Given the description of an element on the screen output the (x, y) to click on. 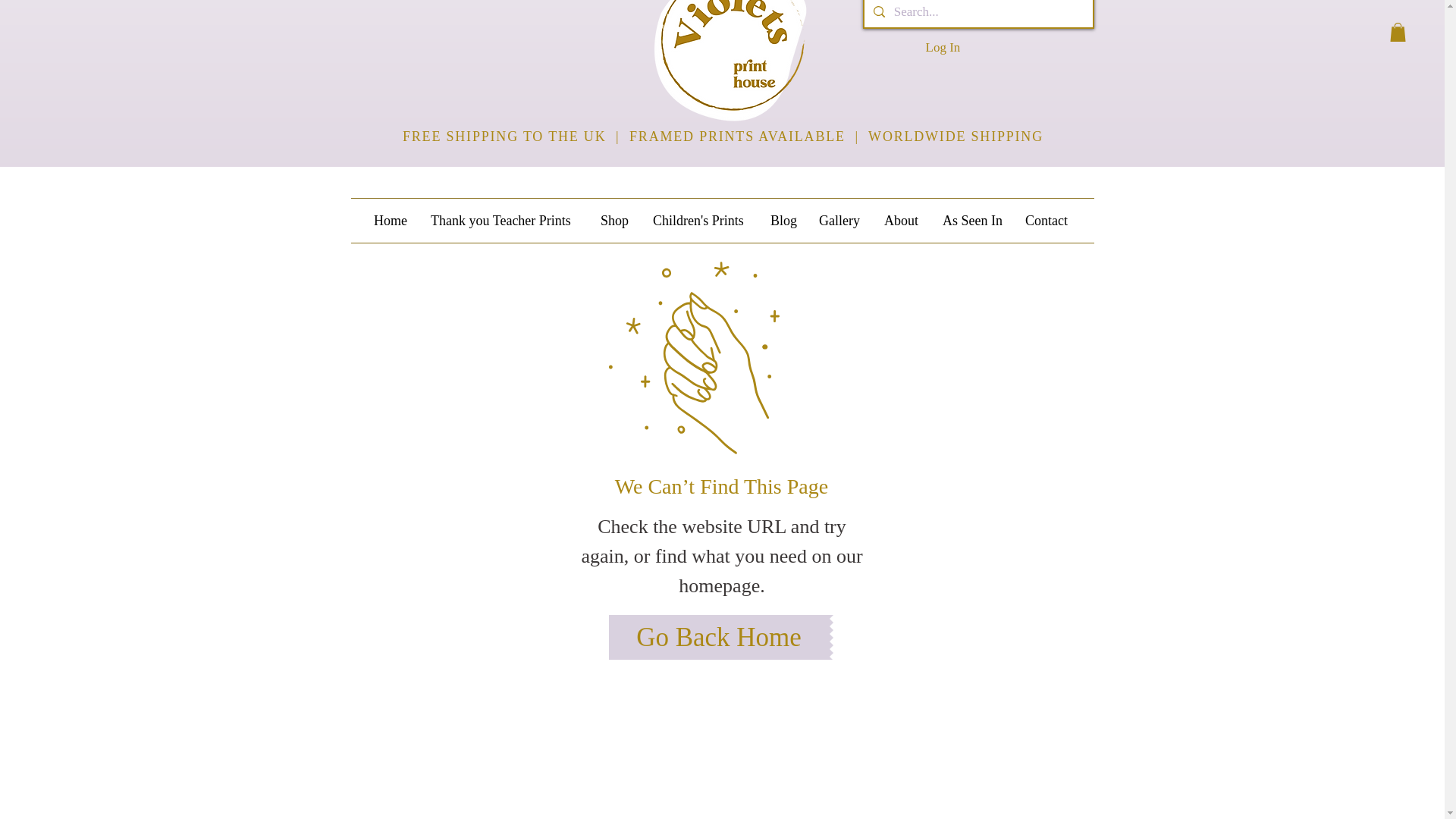
Go Back Home (718, 637)
Gallery (840, 220)
Thank you Teacher Prints (504, 220)
As Seen In (972, 220)
Shop (615, 220)
Blog (783, 220)
Home (390, 220)
About (901, 220)
Contact (1047, 220)
Log In (942, 47)
